Given the description of an element on the screen output the (x, y) to click on. 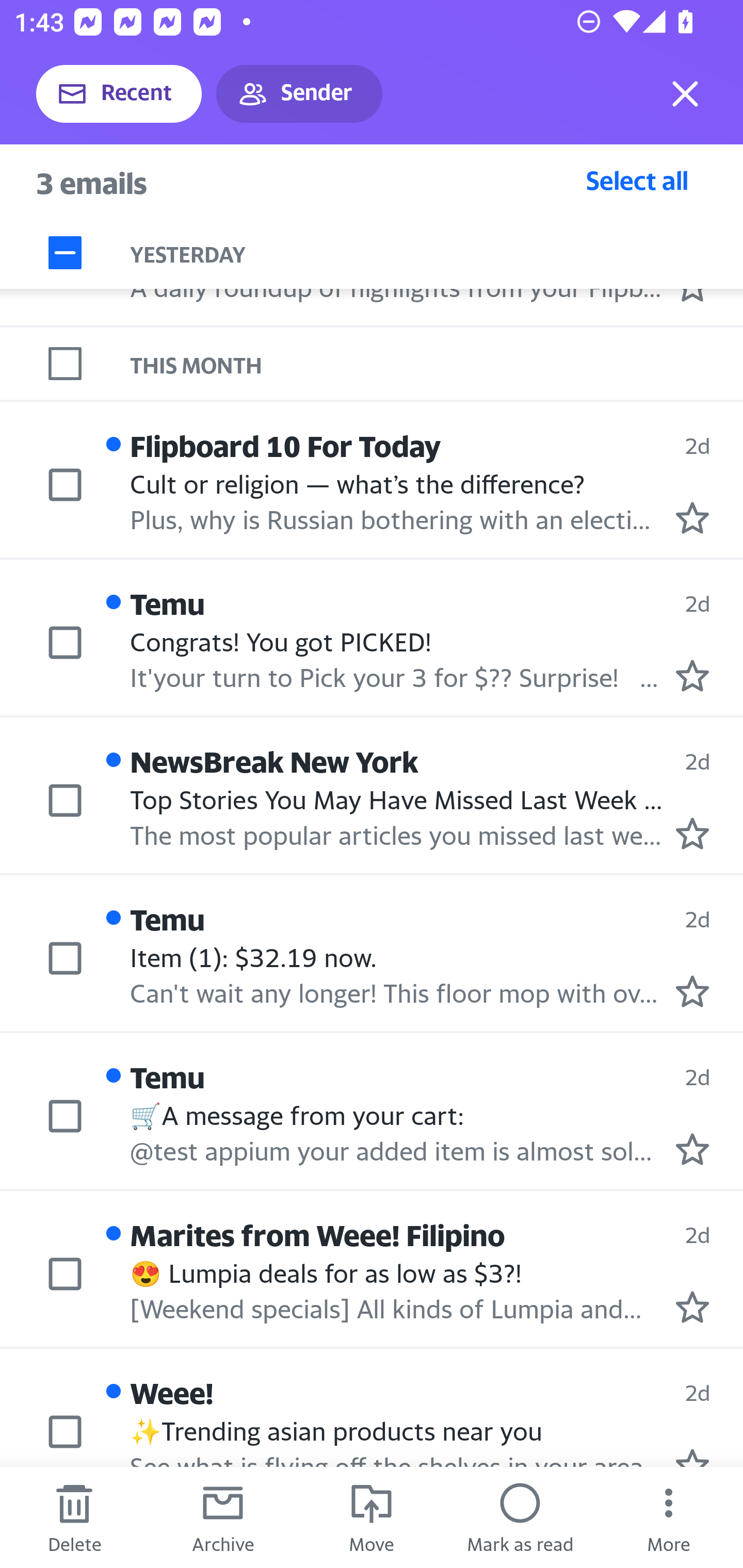
Sender (299, 93)
Exit selection mode (684, 93)
Select all (637, 180)
THIS MONTH (436, 362)
Mark as starred. (692, 518)
Mark as starred. (692, 674)
Mark as starred. (692, 833)
Mark as starred. (692, 991)
Mark as starred. (692, 1148)
Mark as starred. (692, 1306)
Delete (74, 1517)
Archive (222, 1517)
Move (371, 1517)
Mark as read (519, 1517)
More (668, 1517)
